Given the description of an element on the screen output the (x, y) to click on. 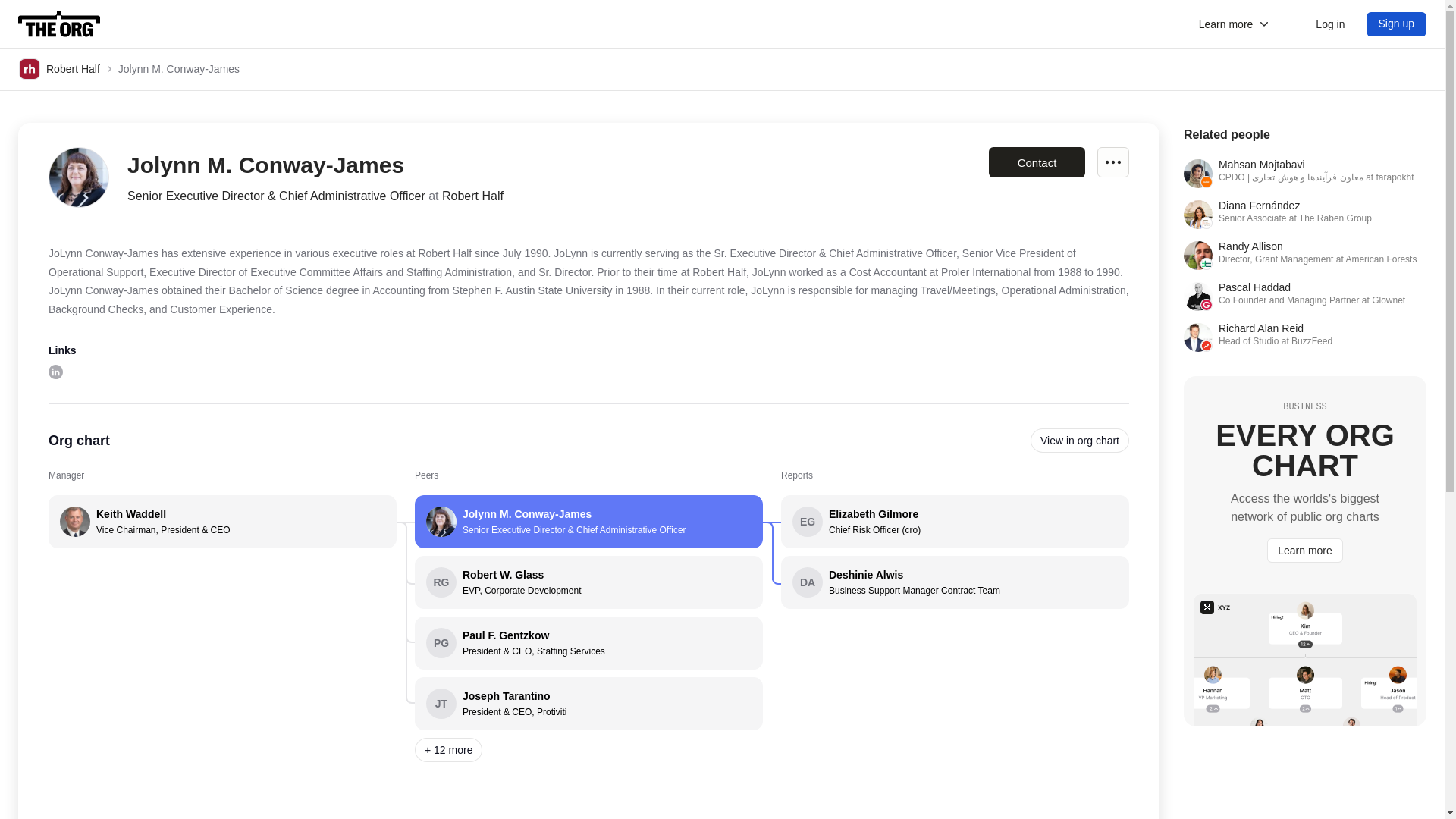
Sign up to The Org (1396, 24)
Robert Half (59, 68)
Log in to The Org (1329, 24)
Log in (1329, 24)
View in org chart (1079, 440)
View on linkedIn (55, 371)
The Org Home (58, 23)
Contact (1304, 337)
Sign up (1036, 162)
